Given the description of an element on the screen output the (x, y) to click on. 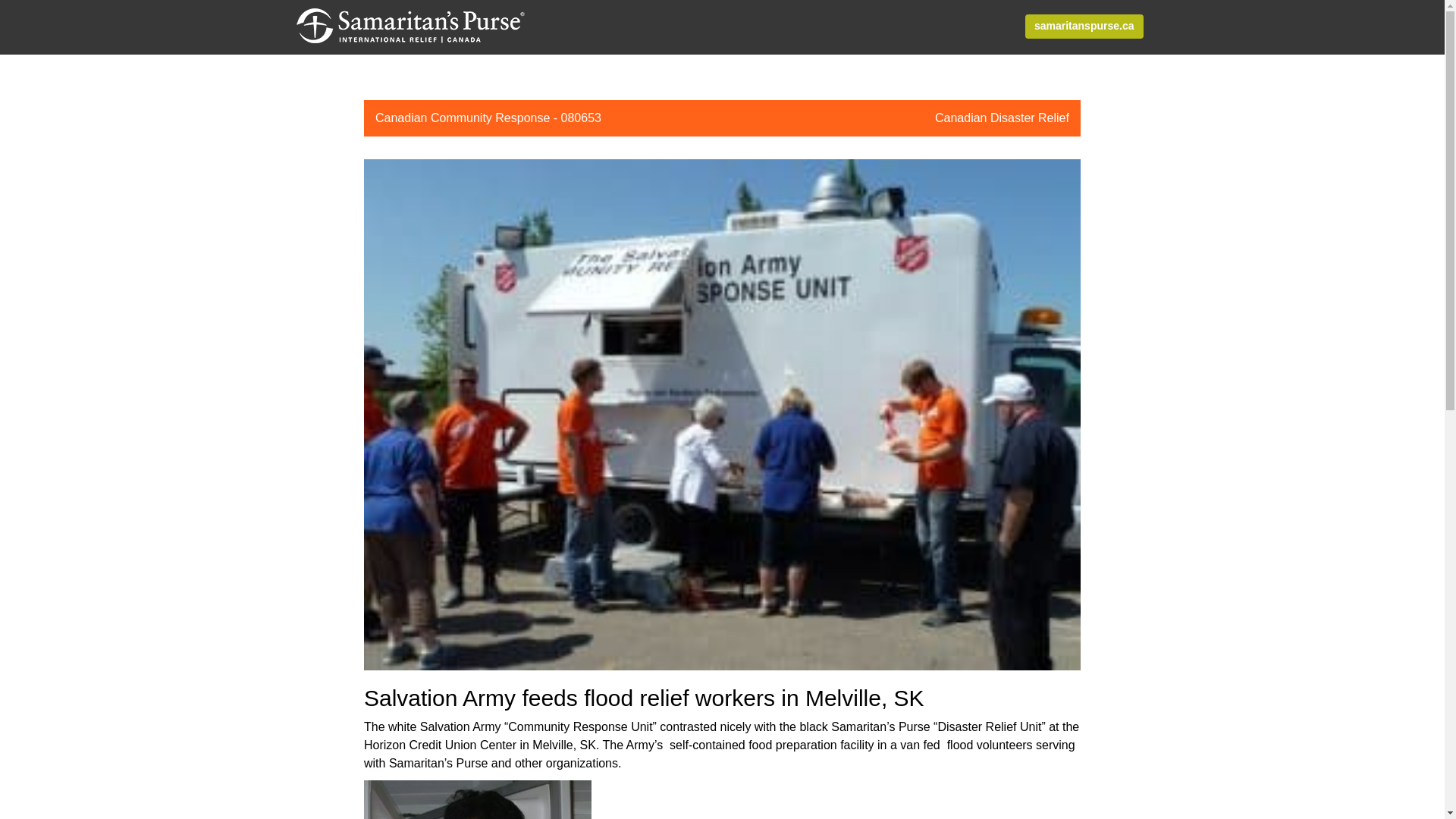
samaritanspurse.ca (1083, 26)
